Given the description of an element on the screen output the (x, y) to click on. 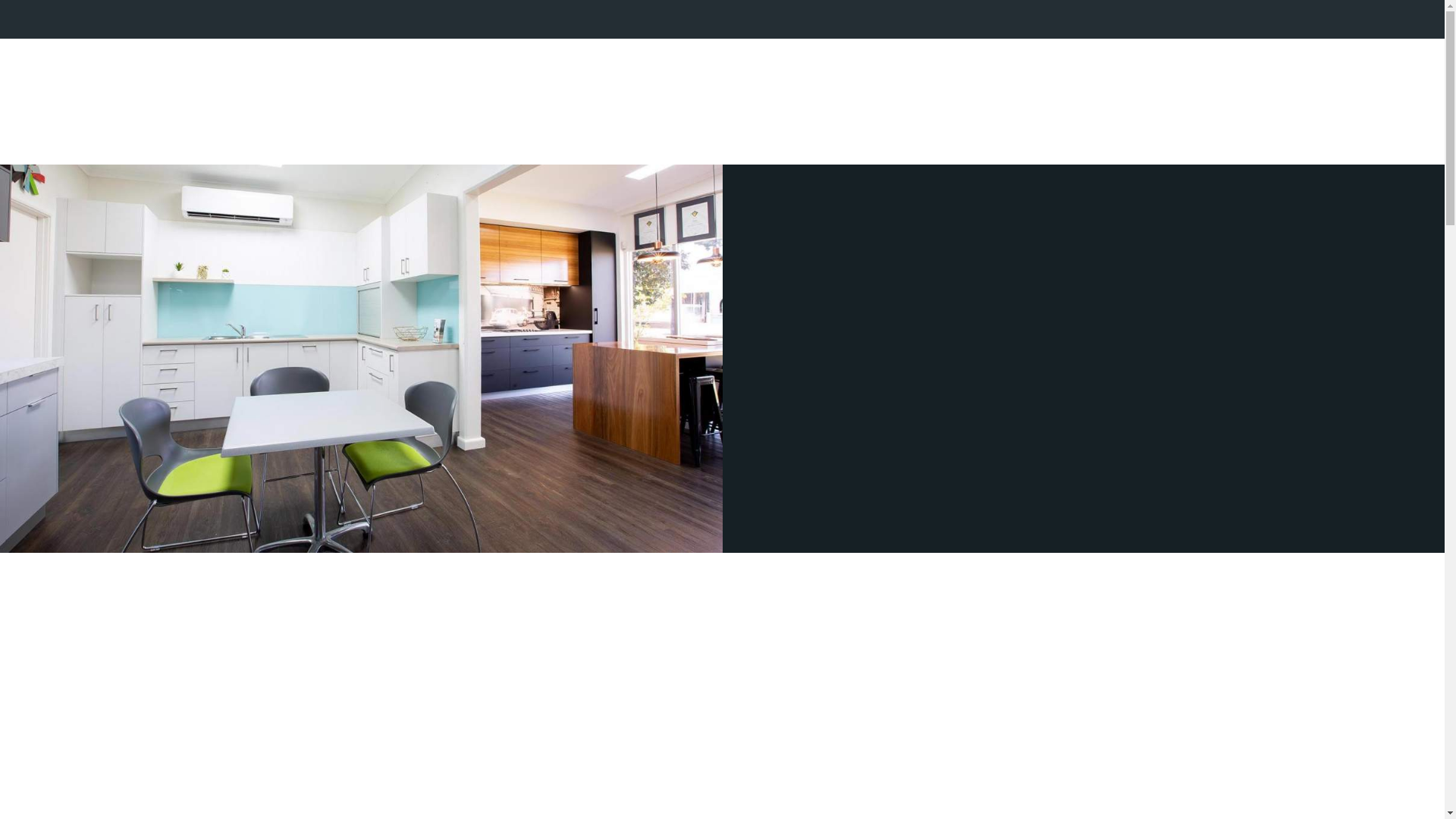
Inspiration, ideas and advice Element type: hover (361, 358)
